Given the description of an element on the screen output the (x, y) to click on. 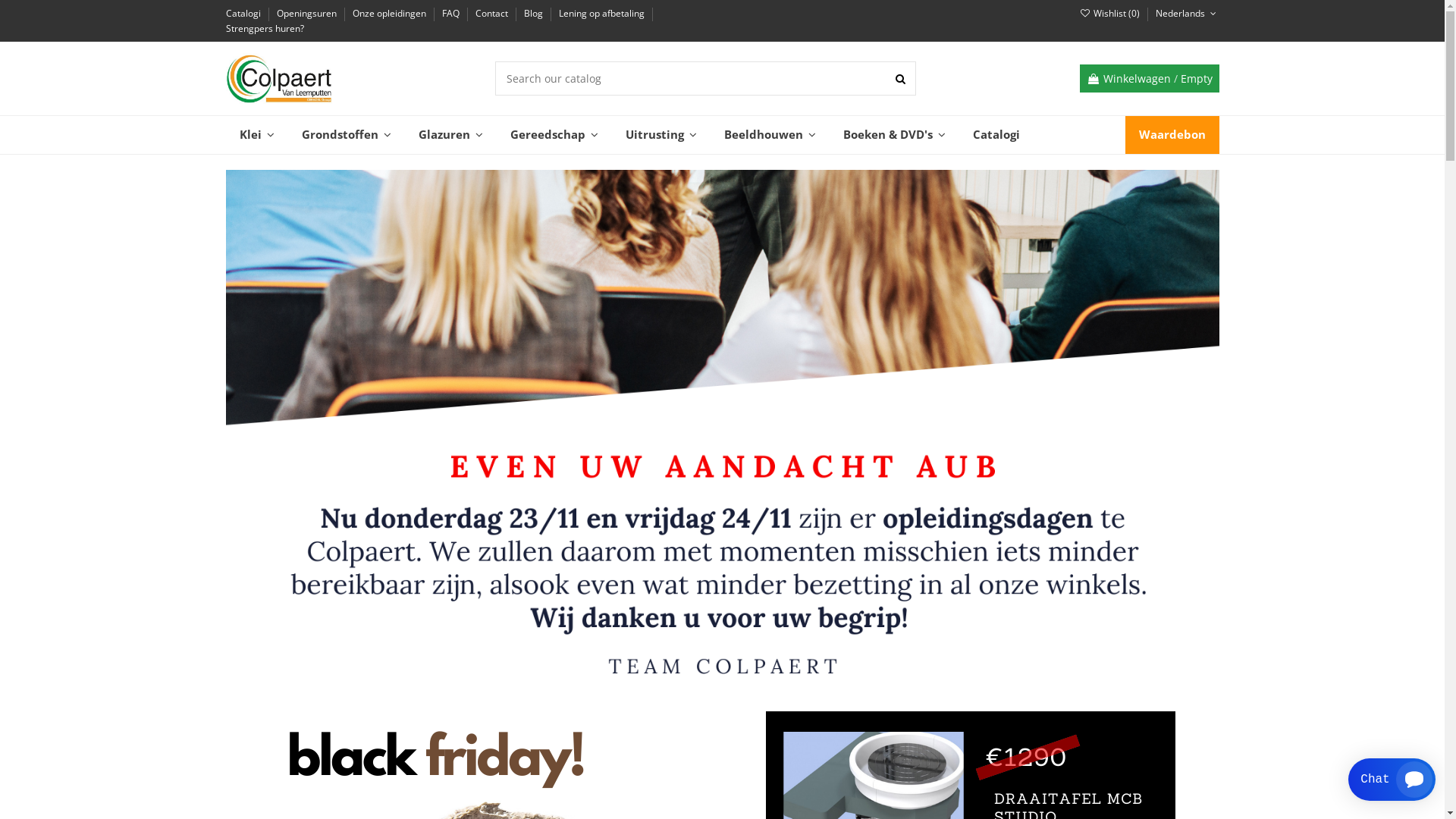
Openingsuren Element type: text (307, 12)
Catalogi Element type: text (995, 134)
Gereedschap Element type: text (553, 134)
Contact Element type: text (491, 12)
Waardebon Element type: text (1172, 134)
Beeldhouwen Element type: text (768, 134)
Klei Element type: text (256, 134)
FAQ Element type: text (451, 12)
Uitrusting Element type: text (660, 134)
Grondstoffen Element type: text (346, 134)
Catalogi Element type: text (244, 12)
Strengpers huren? Element type: text (264, 27)
Wishlist (0) Element type: text (1110, 12)
Smartsupp widget button Element type: hover (1391, 779)
Nederlands Element type: text (1186, 12)
Lening op afbetaling Element type: text (602, 12)
Winkelwagen / Empty Element type: text (1149, 78)
Boeken & DVD's Element type: text (894, 134)
Onze opleidingen Element type: text (389, 12)
Blog Element type: text (533, 12)
Glazuren Element type: text (450, 134)
